Given the description of an element on the screen output the (x, y) to click on. 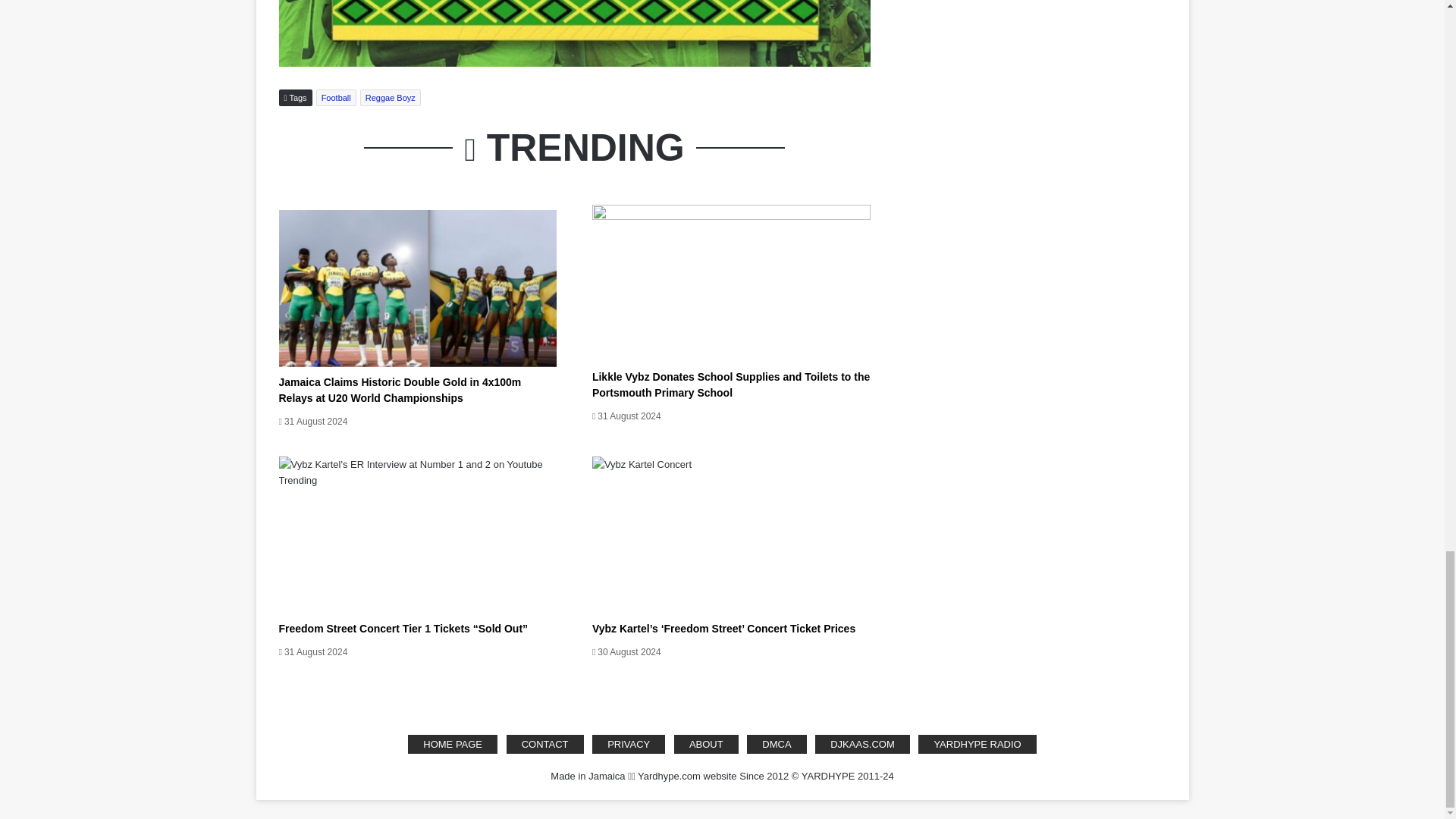
Football (335, 97)
Reggae Boyz (389, 97)
